Given the description of an element on the screen output the (x, y) to click on. 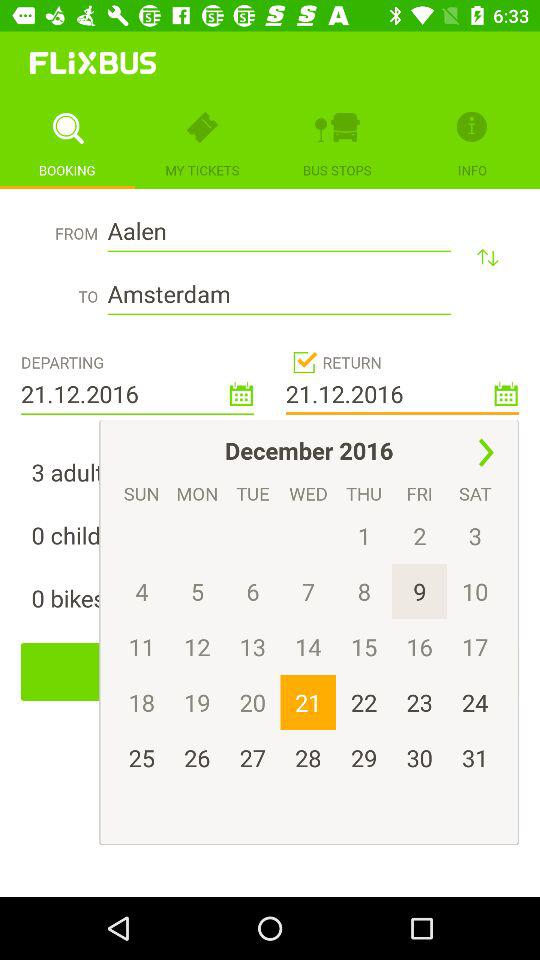
go to next month (485, 452)
